Given the description of an element on the screen output the (x, y) to click on. 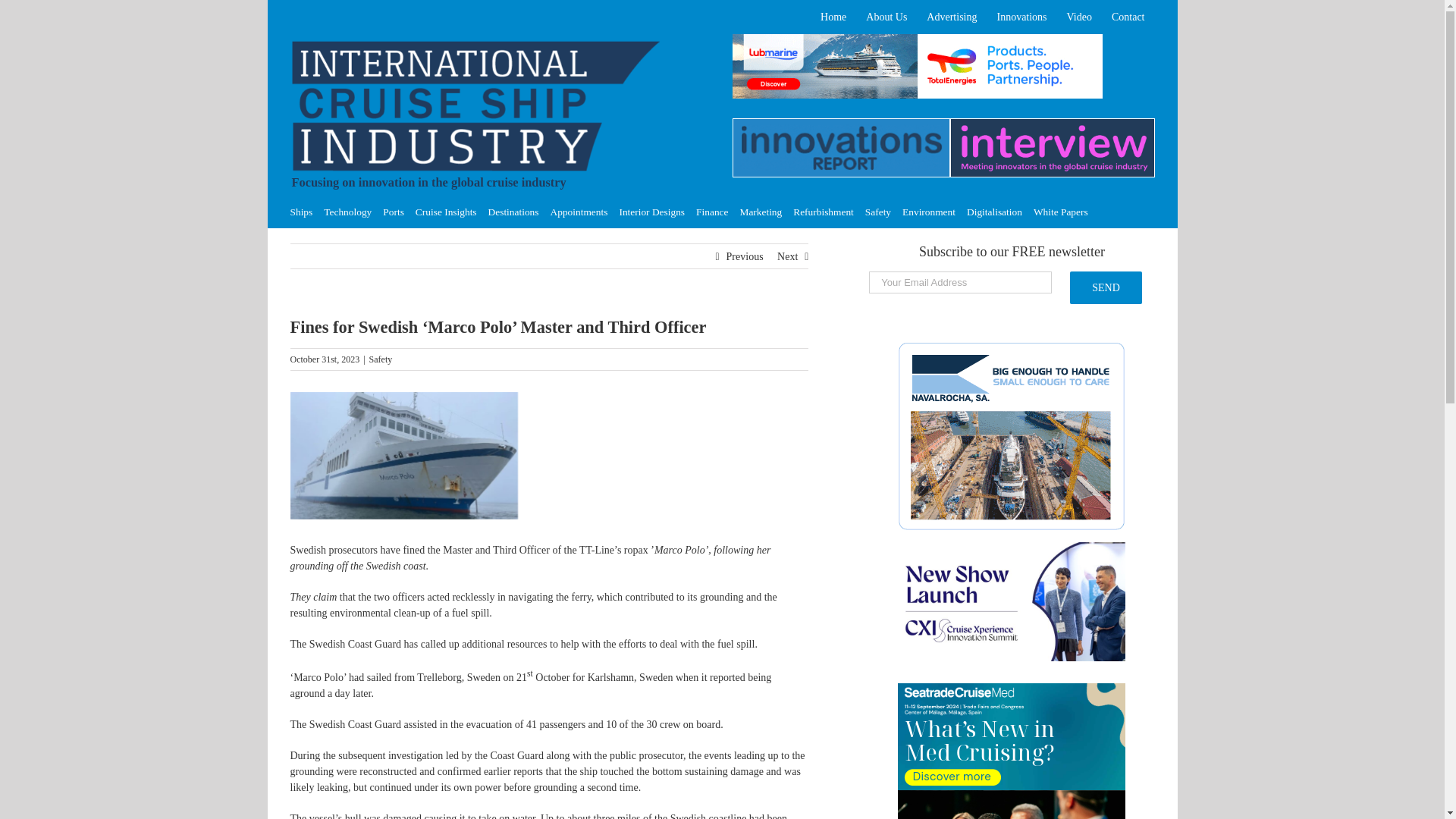
Appointments (579, 212)
Cruise Insights (445, 212)
Finance (711, 212)
Technology (347, 212)
Safety (381, 358)
Contact (1128, 16)
Refurbishment (823, 212)
Interior Designs (651, 212)
Advertising (952, 16)
Marketing (760, 212)
